Given the description of an element on the screen output the (x, y) to click on. 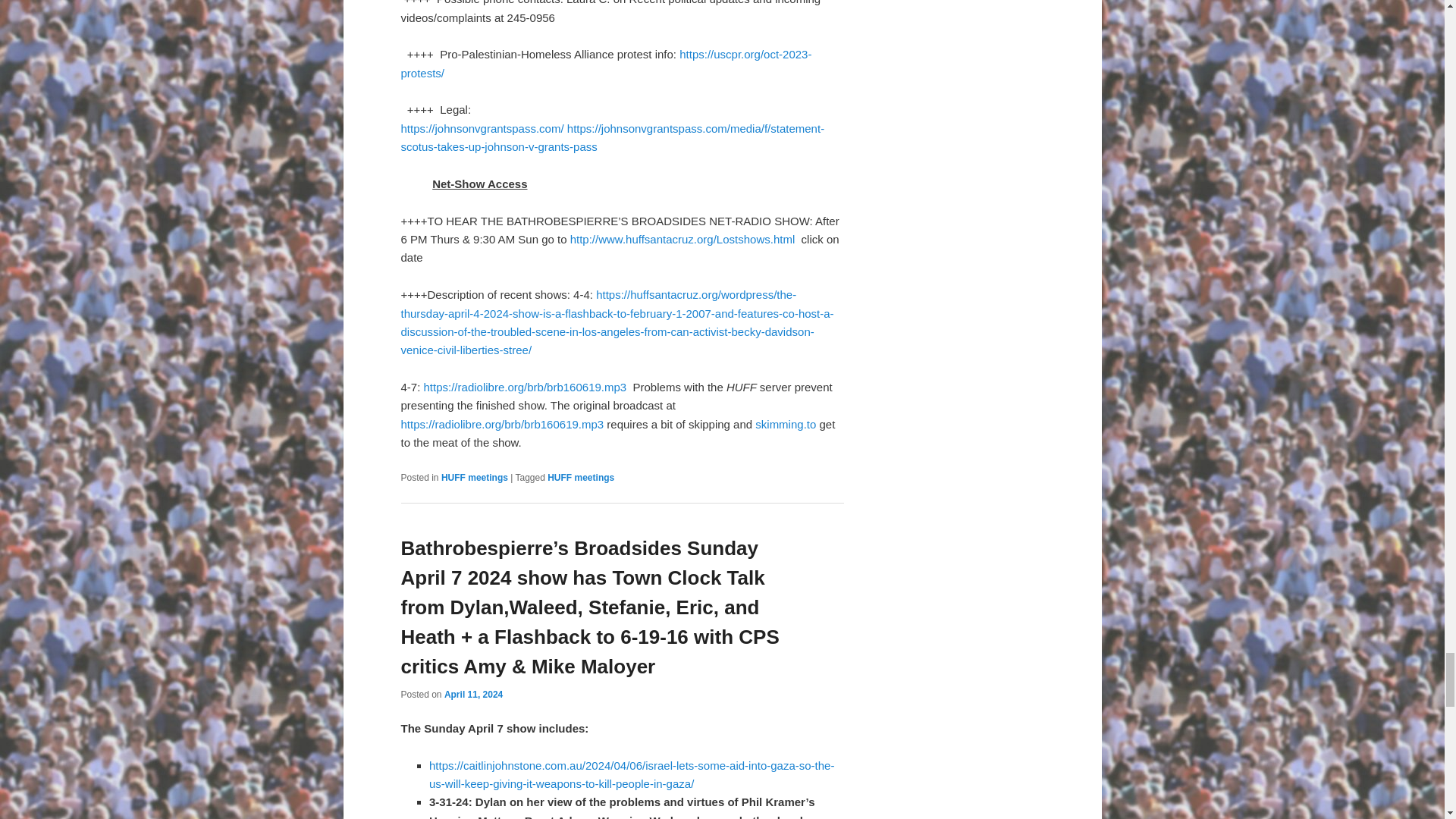
1:54 pm (473, 694)
